Given the description of an element on the screen output the (x, y) to click on. 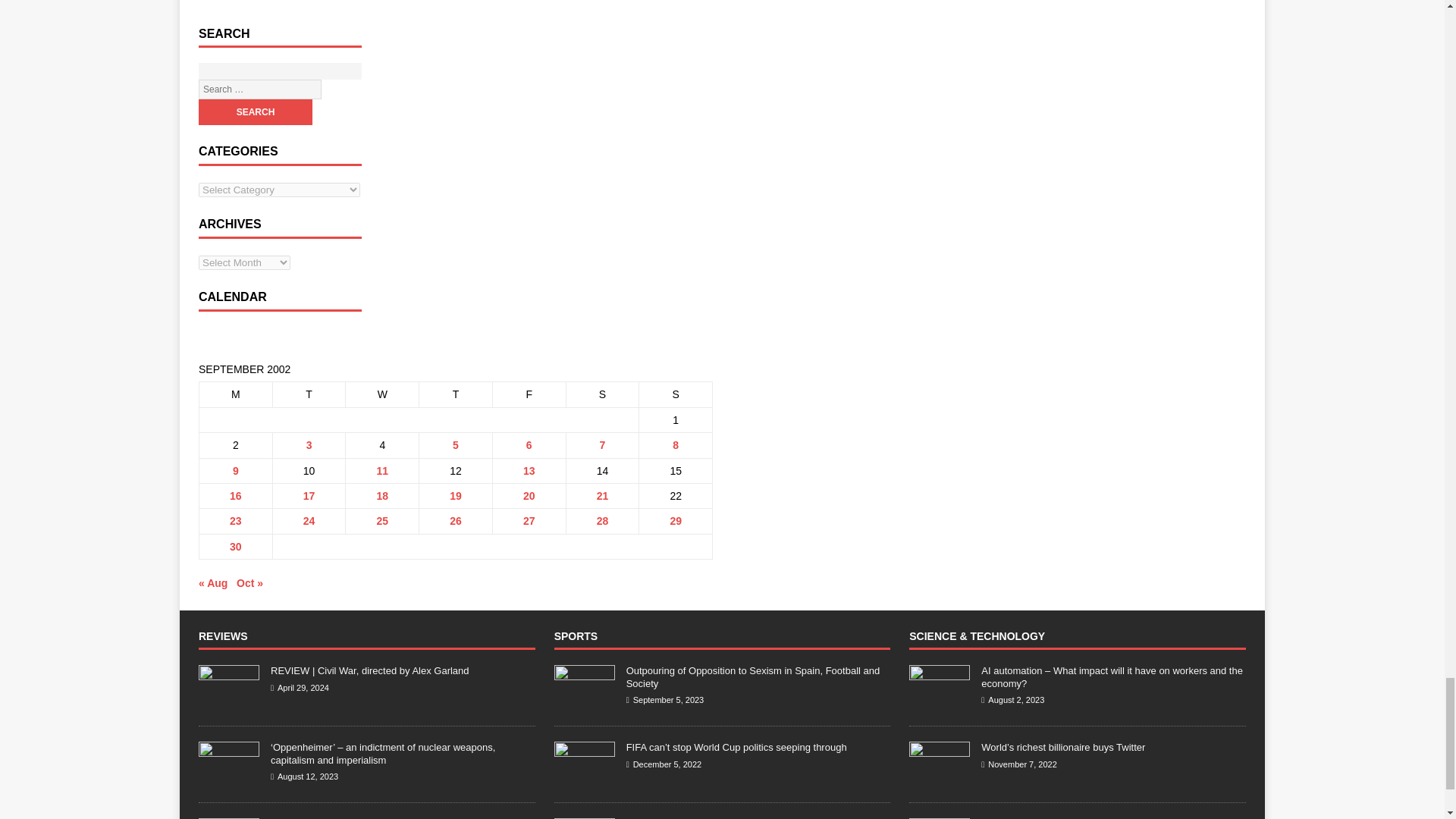
Search (255, 112)
Search (255, 112)
